Given the description of an element on the screen output the (x, y) to click on. 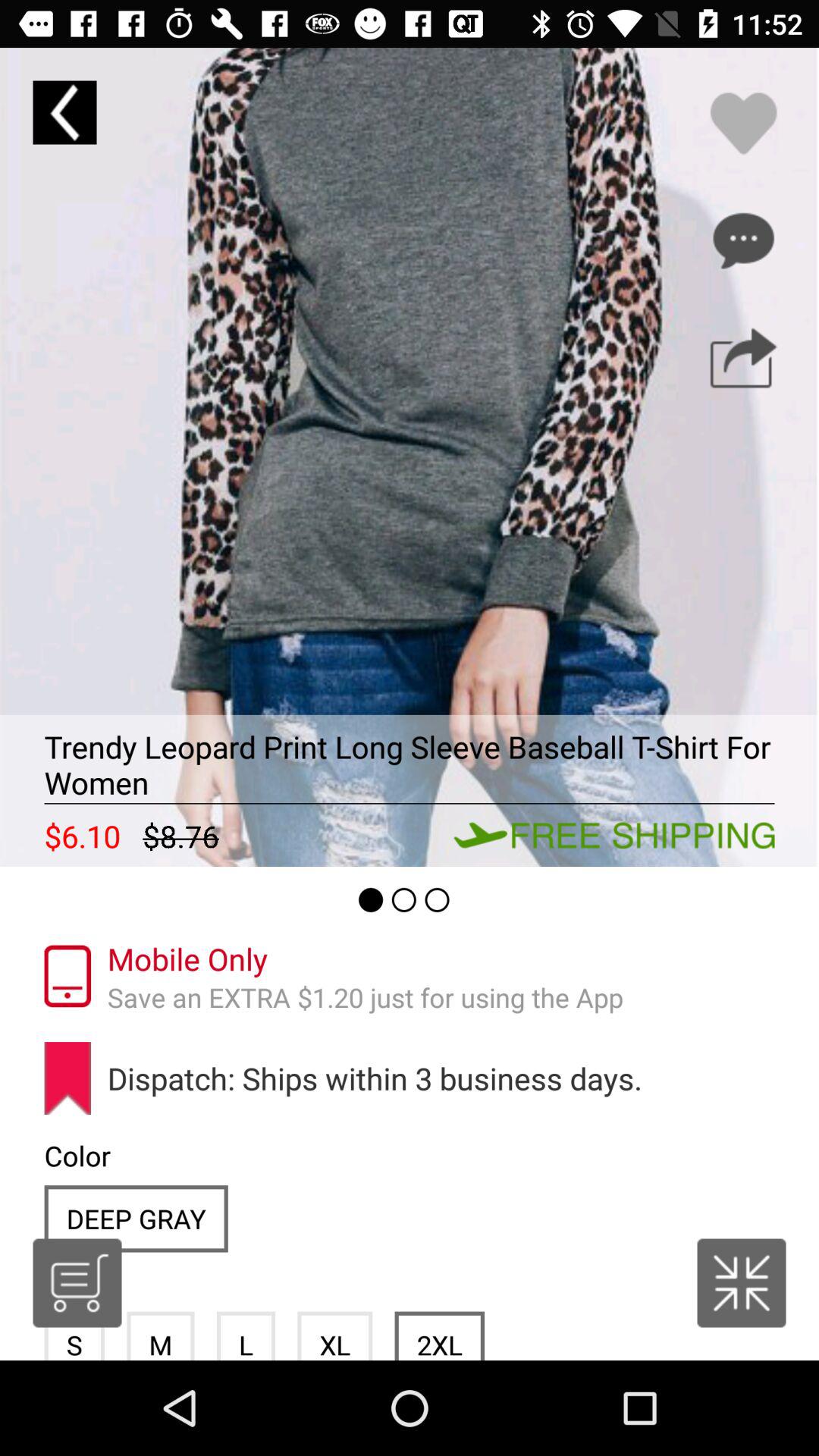
turn off item next to xl (439, 1335)
